Given the description of an element on the screen output the (x, y) to click on. 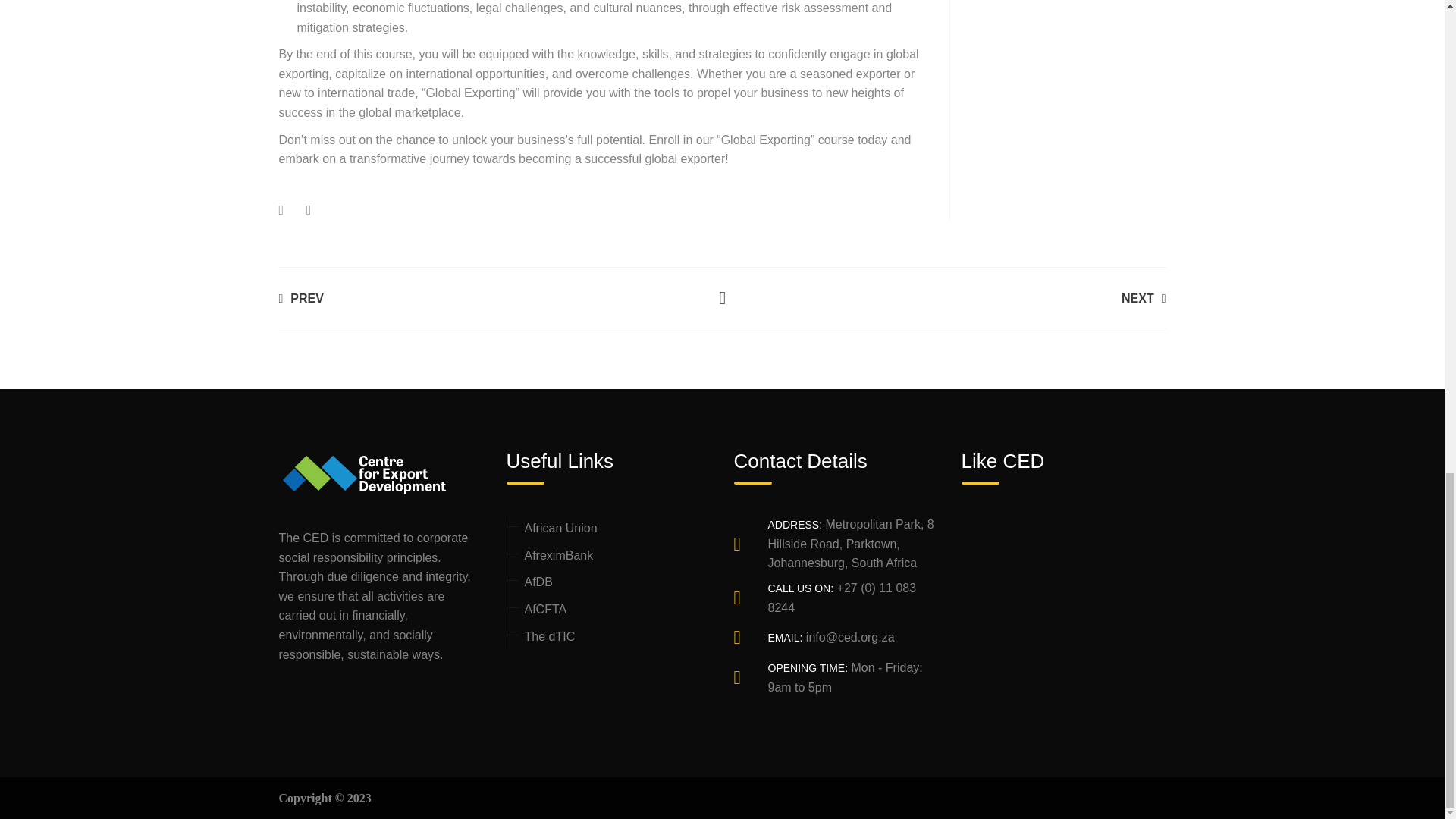
PREV (301, 297)
